Given the description of an element on the screen output the (x, y) to click on. 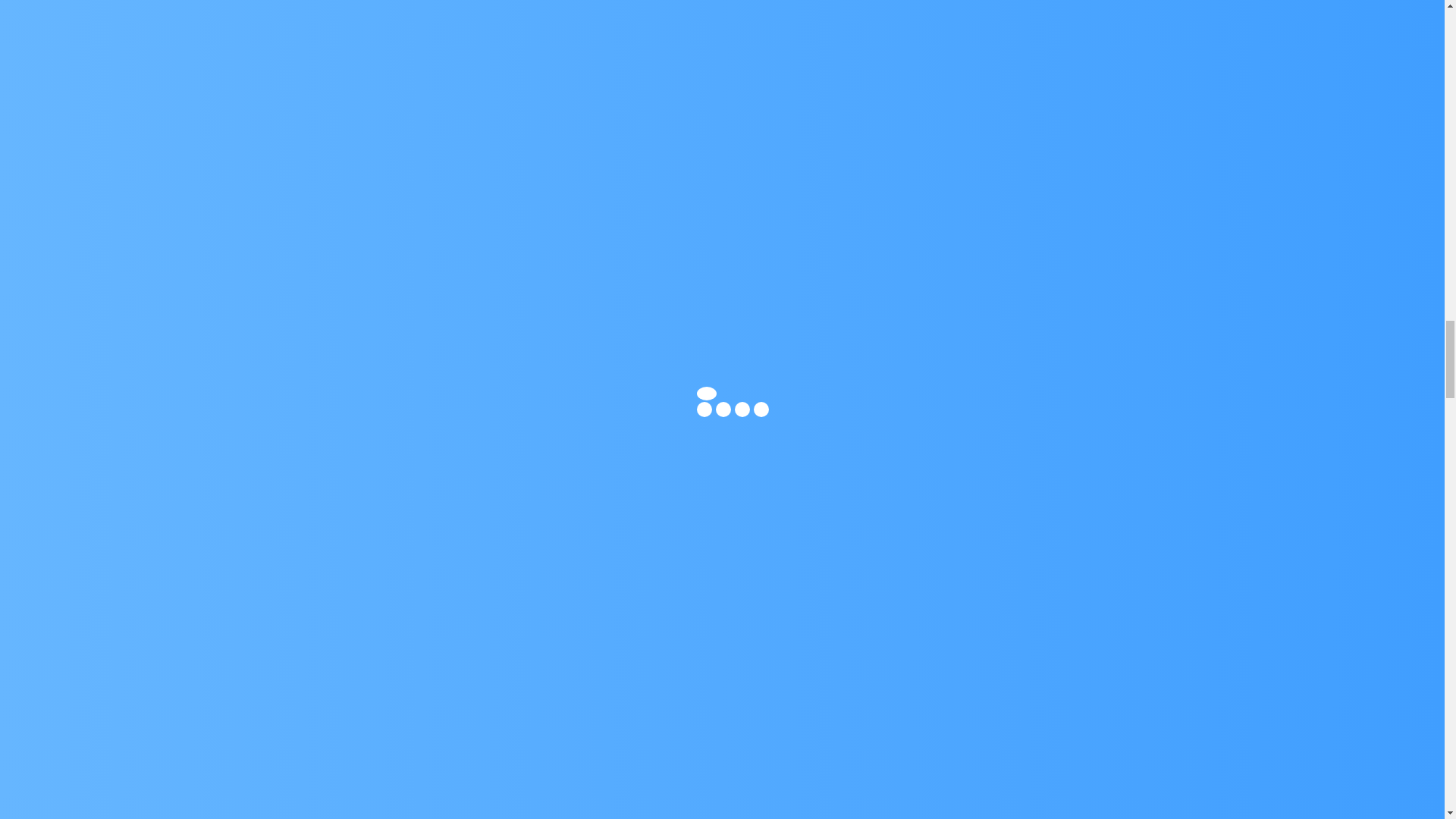
GBP messaging simulator (877, 108)
Google's Messaging automation Contest (899, 72)
capture leads for you from Google on auto-pilot (895, 36)
